Given the description of an element on the screen output the (x, y) to click on. 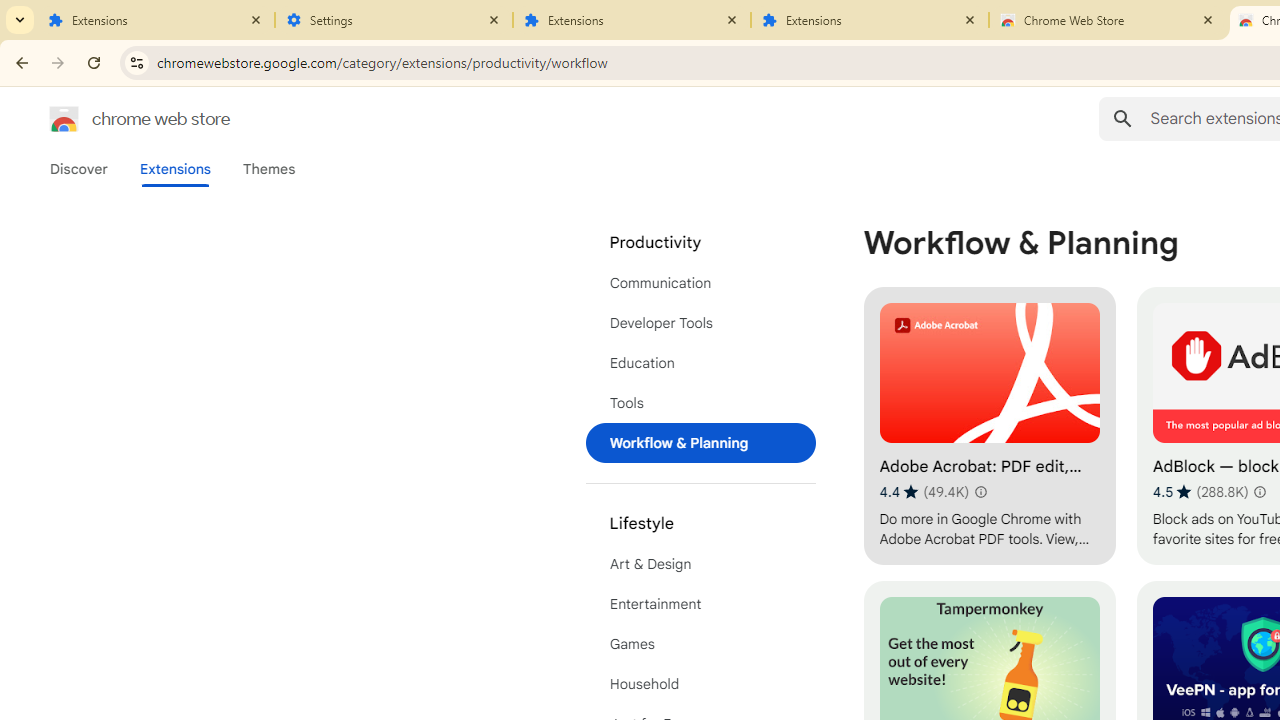
Extensions (870, 20)
Discover (79, 169)
Chrome Web Store logo (63, 118)
Average rating 4.4 out of 5 stars. 49.4K ratings. (924, 491)
Adobe Acrobat: PDF edit, convert, sign tools (989, 426)
Art & Design (700, 563)
Average rating 4.5 out of 5 stars. 288.8K ratings. (1200, 491)
Chrome Web Store logo chrome web store (118, 118)
